Given the description of an element on the screen output the (x, y) to click on. 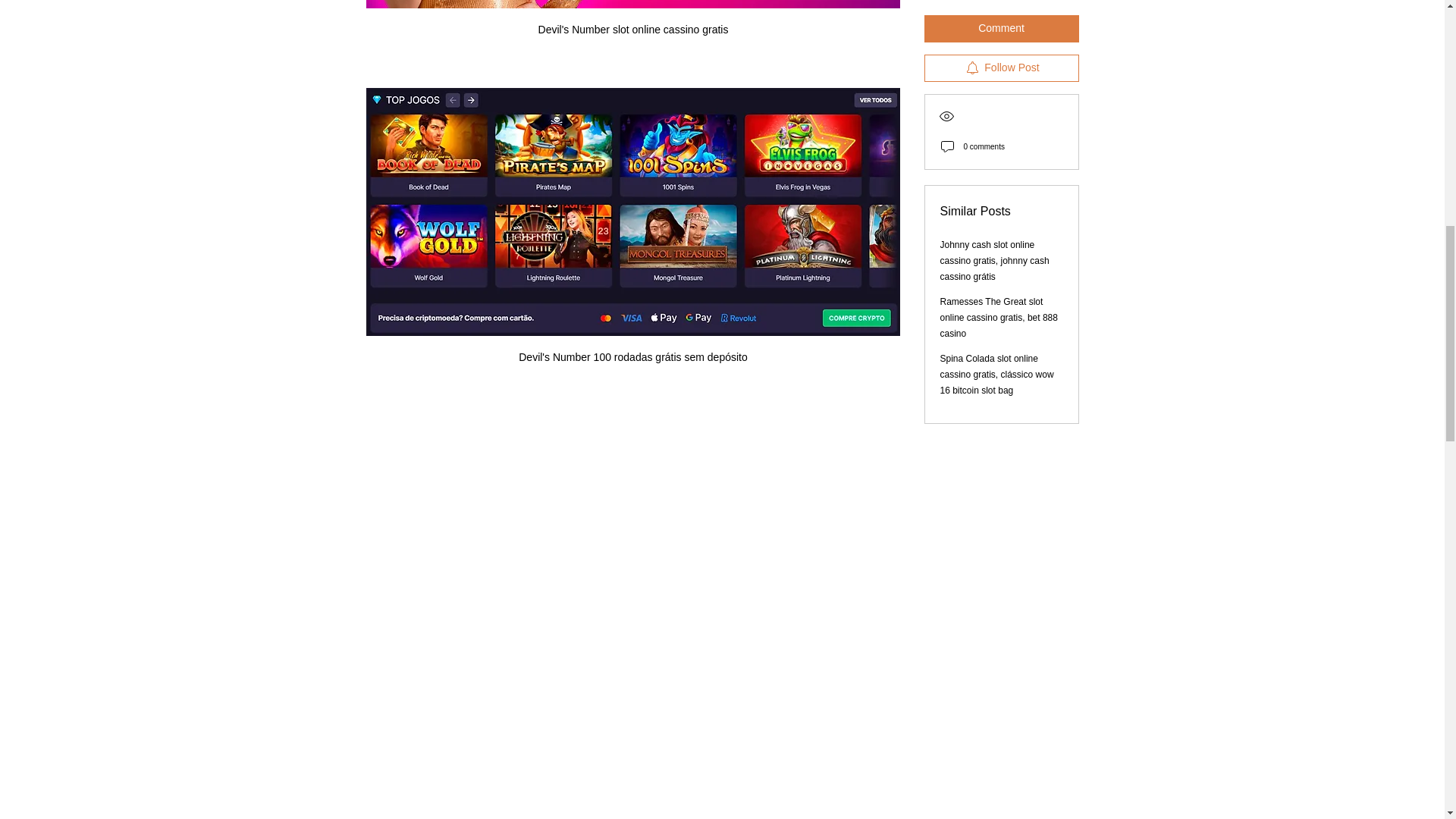
Devil's Number slot online cassino gratis (632, 25)
